Given the description of an element on the screen output the (x, y) to click on. 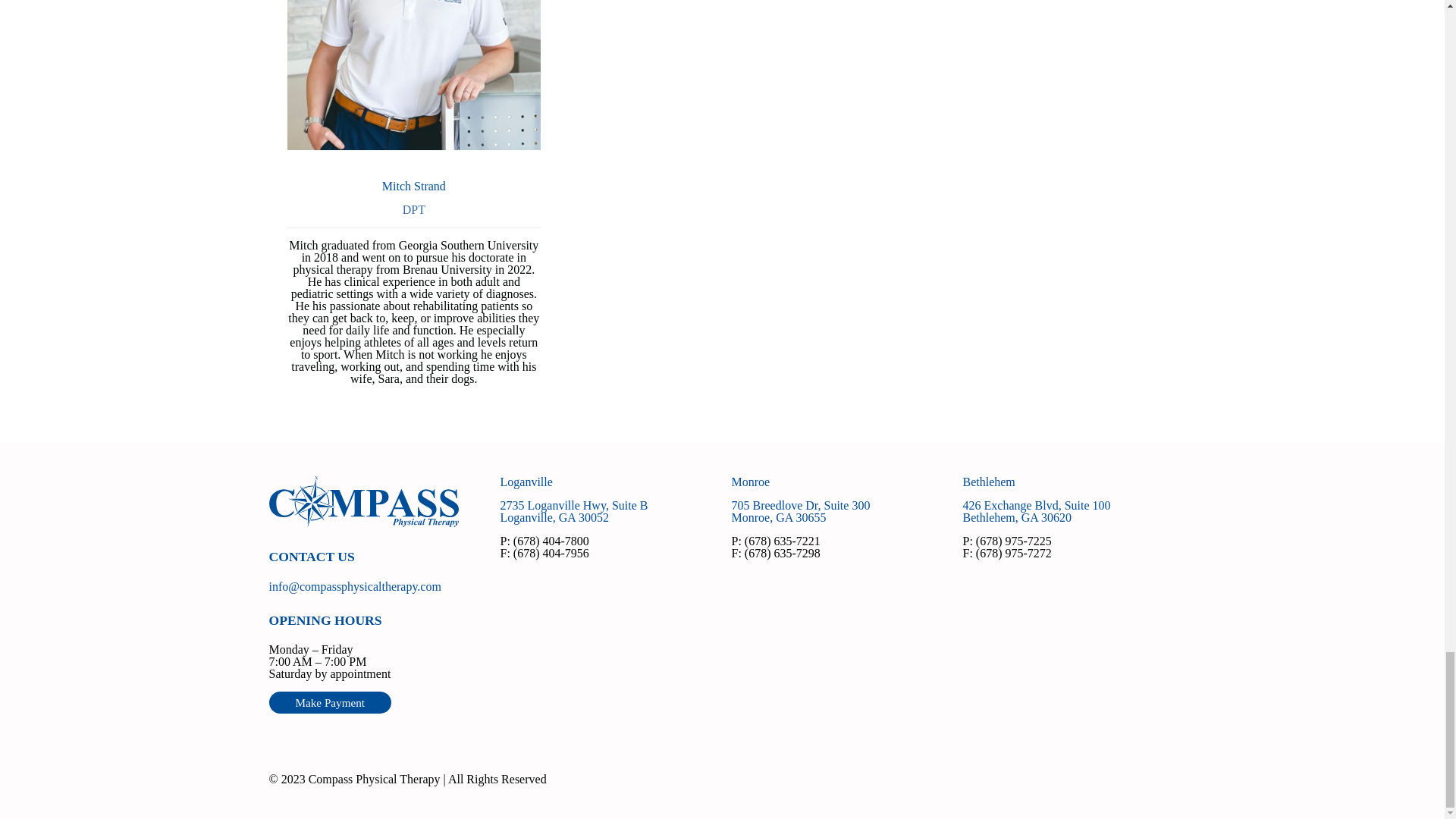
Instagram (1036, 511)
Make Payment (1152, 779)
LinkedIn (329, 702)
Facebook (799, 511)
